Given the description of an element on the screen output the (x, y) to click on. 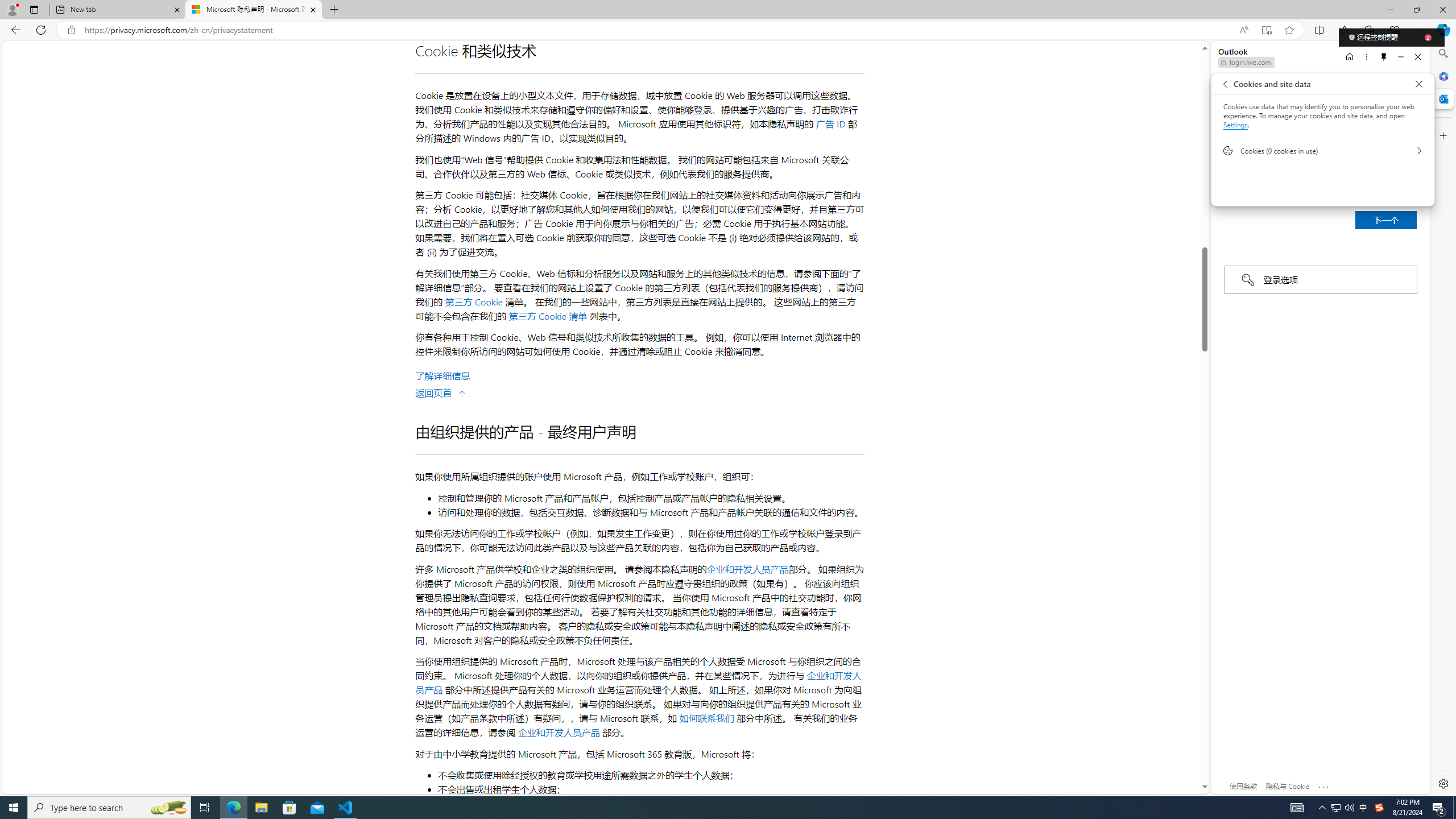
Cookies and site data (1418, 83)
Task View (204, 807)
Visual Studio Code - 1 running window (345, 807)
User Promoted Notification Area (1342, 807)
Search highlights icon opens search home window (167, 807)
AutomationID: 4105 (1297, 807)
Q2790: 100% (1349, 807)
Cookies (0 cookies in use) (1322, 150)
Tray Input Indicator - Chinese (Simplified, China) (1378, 807)
Microsoft Edge - 1 running window (233, 807)
Notification Chevron (1322, 807)
Action Center, 2 new notifications (1439, 807)
Start (13, 807)
